Given the description of an element on the screen output the (x, y) to click on. 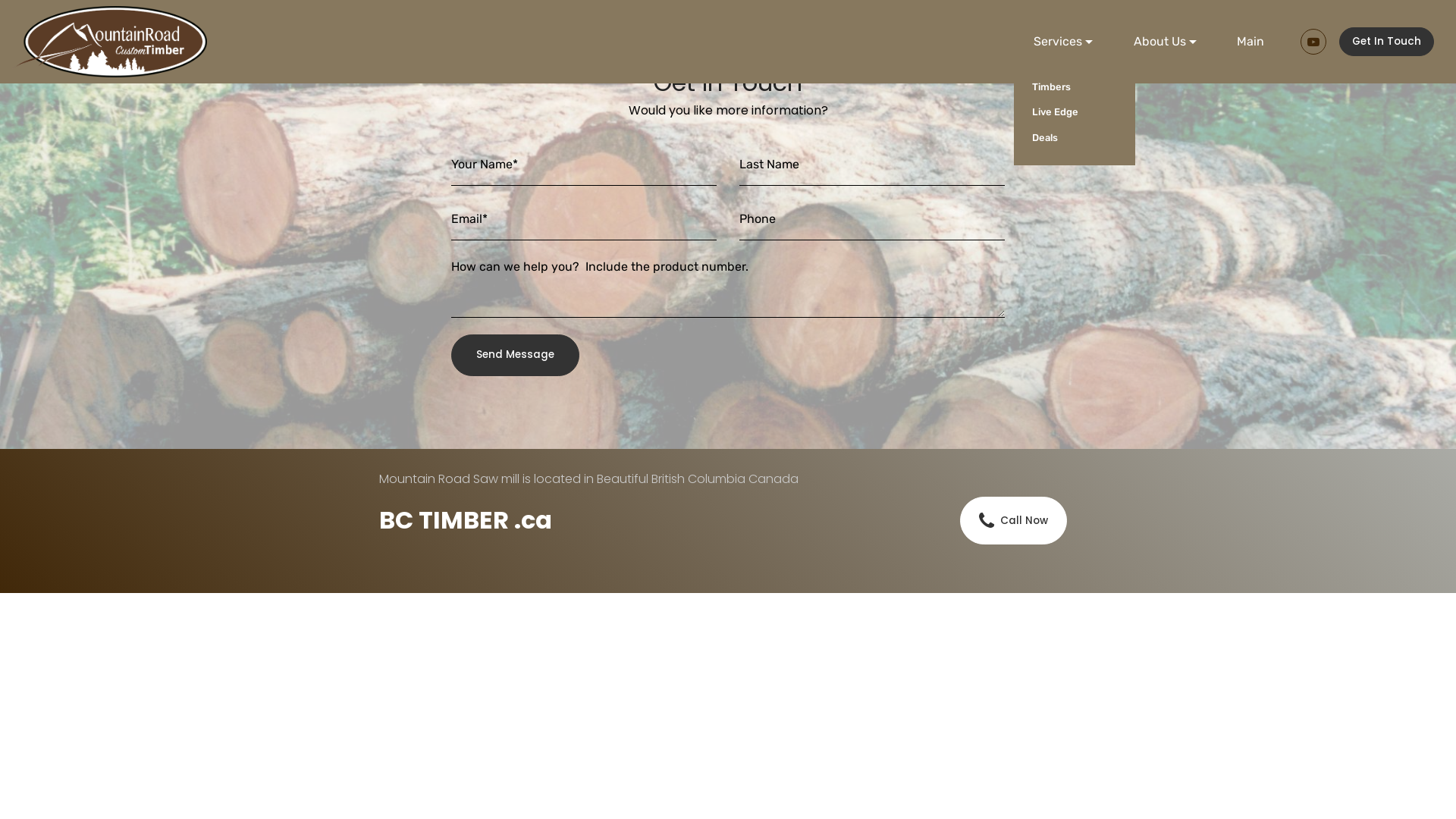
Call Now Element type: text (1013, 520)
Send Message Element type: text (515, 354)
About Us Element type: text (1164, 42)
Deals Element type: text (1074, 137)
Get In Touch Element type: text (1386, 41)
Timbers Element type: text (1074, 87)
Main Element type: text (1249, 42)
Services Element type: text (1063, 42)
Live Edge Element type: text (1074, 112)
